Given the description of an element on the screen output the (x, y) to click on. 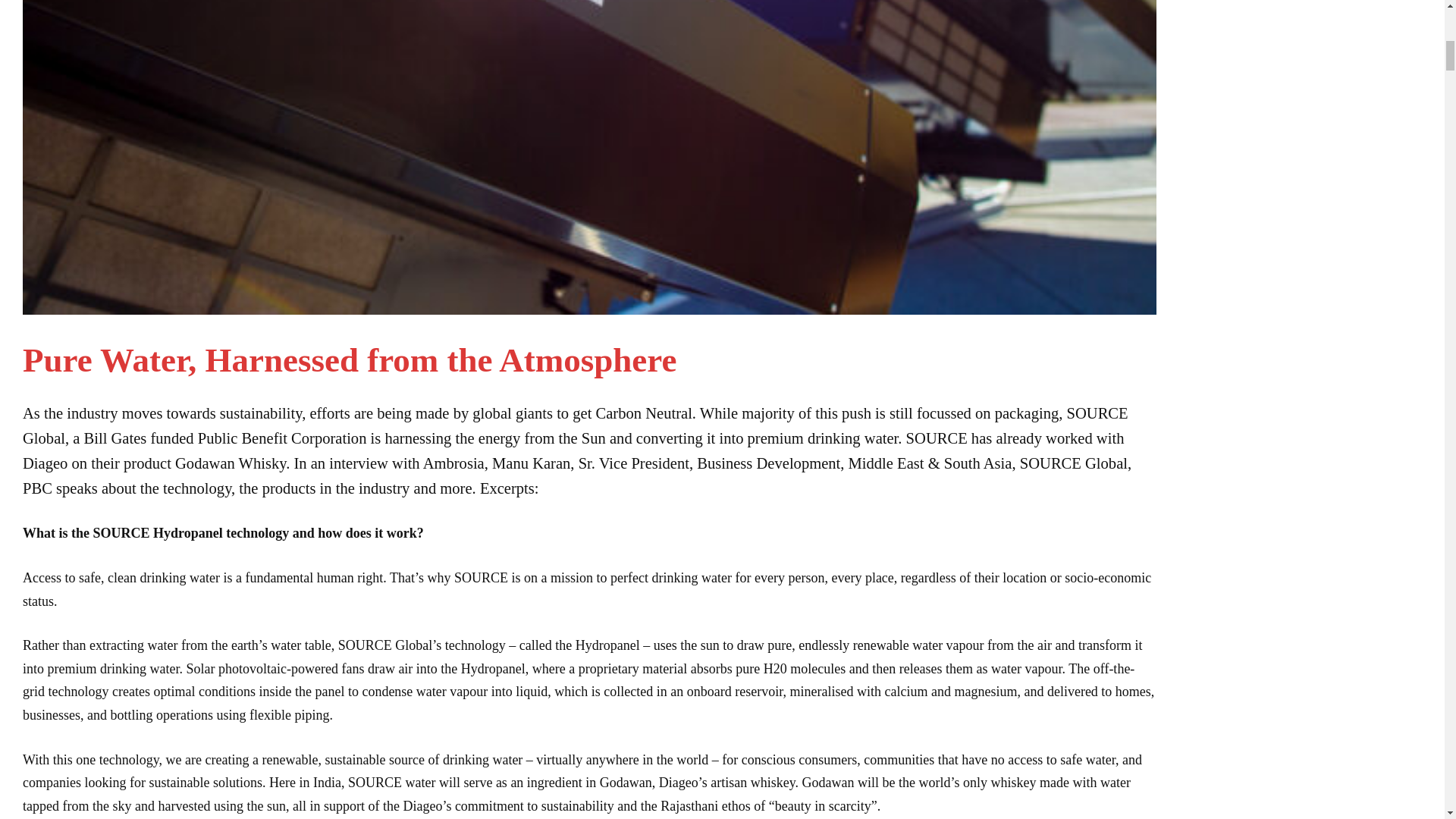
Pure Water, Harnessed from the Atmosphere (350, 360)
